Given the description of an element on the screen output the (x, y) to click on. 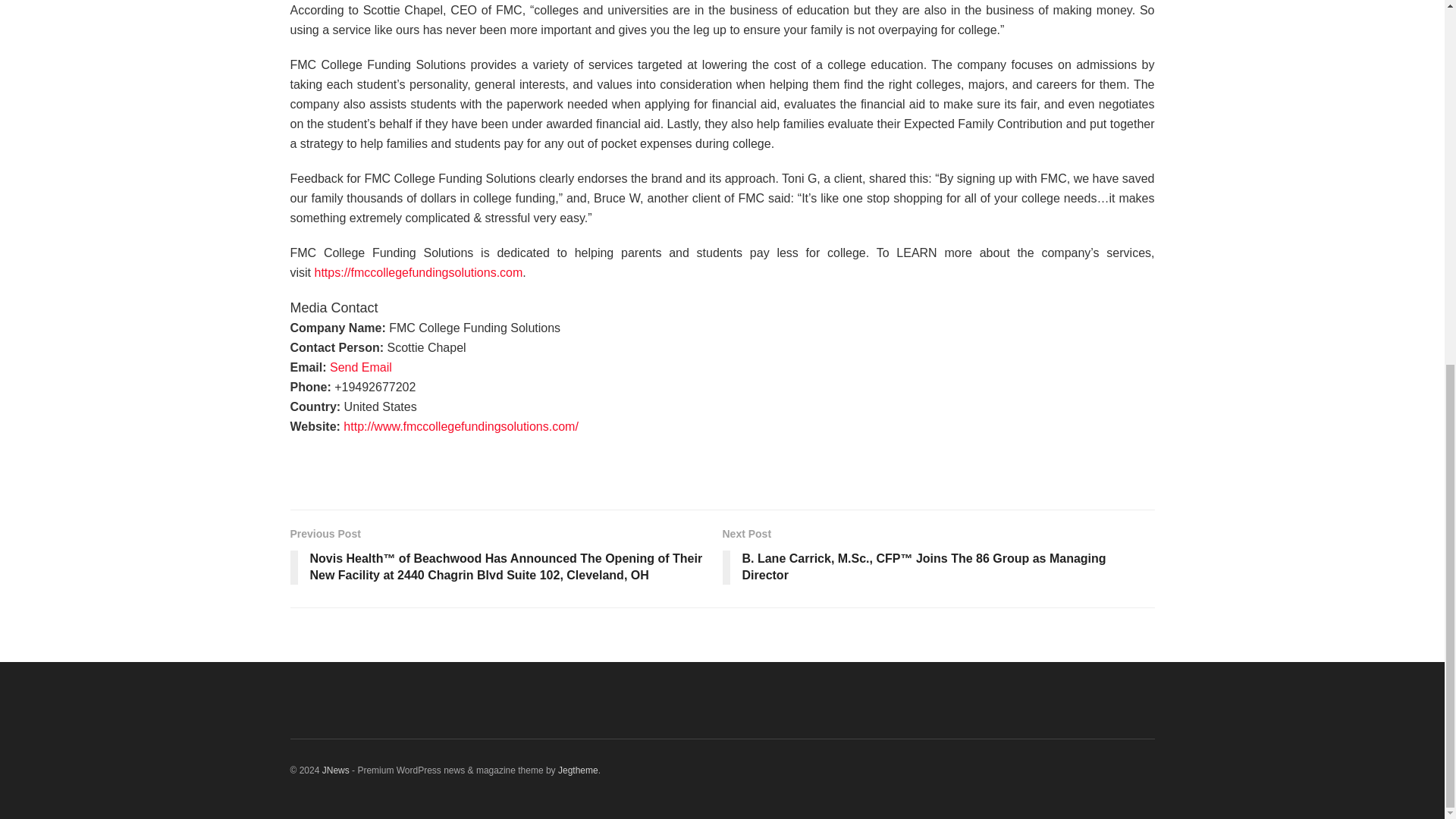
Send Email (360, 367)
Jegtheme (577, 769)
Jegtheme (577, 769)
JNews (335, 769)
